Given the description of an element on the screen output the (x, y) to click on. 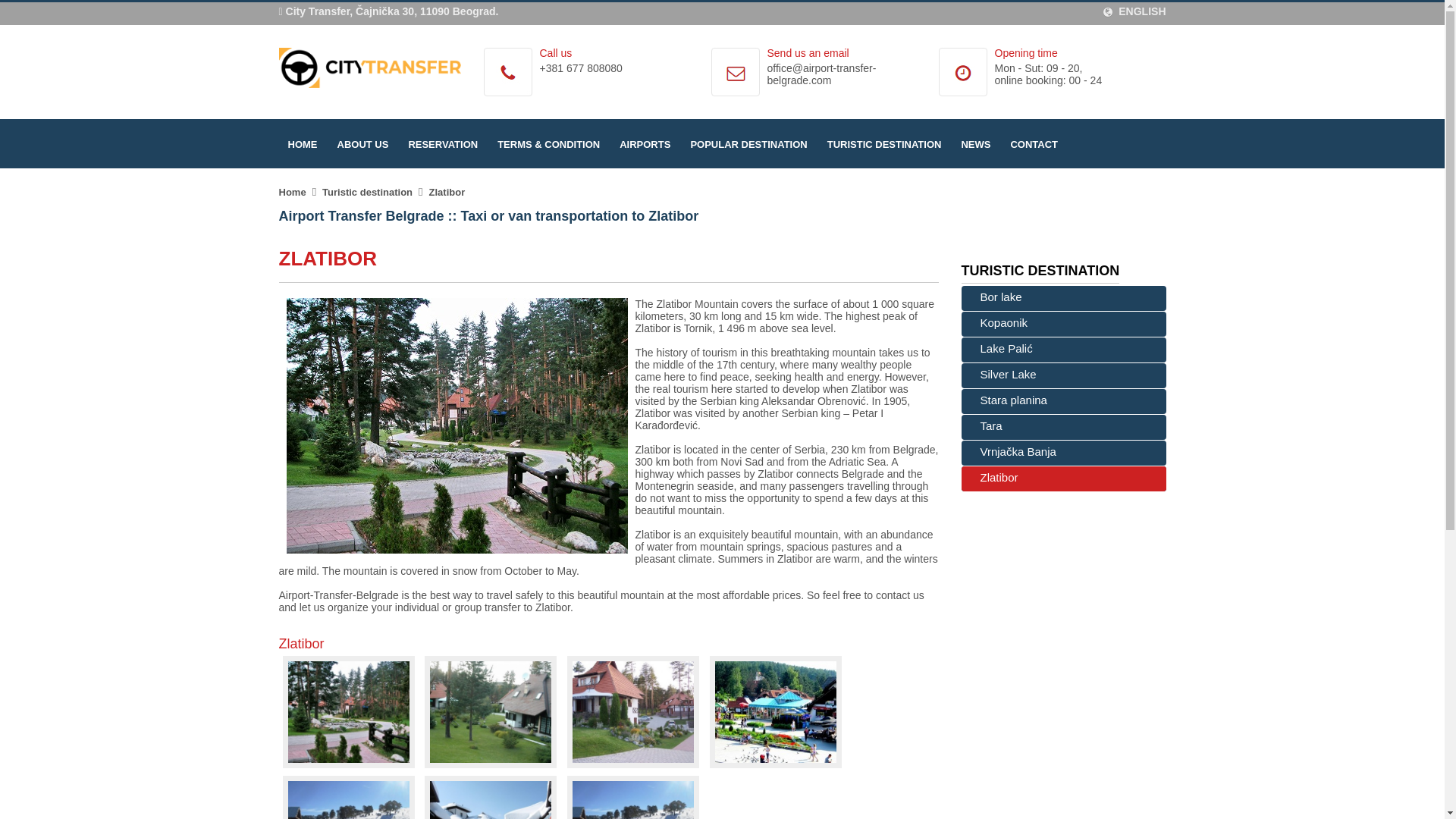
RESERVATION (442, 144)
HOME (302, 144)
Zlatibor (456, 425)
logo (370, 67)
CONTACT (1034, 144)
POPULAR DESTINATION (748, 144)
NEWS (975, 144)
Turistic destination (366, 192)
Zlatibor (447, 192)
AIRPORTS (644, 144)
ENGLISH (1134, 11)
ABOUT US (362, 144)
Home (292, 192)
TURISTIC DESTINATION (884, 144)
